Given the description of an element on the screen output the (x, y) to click on. 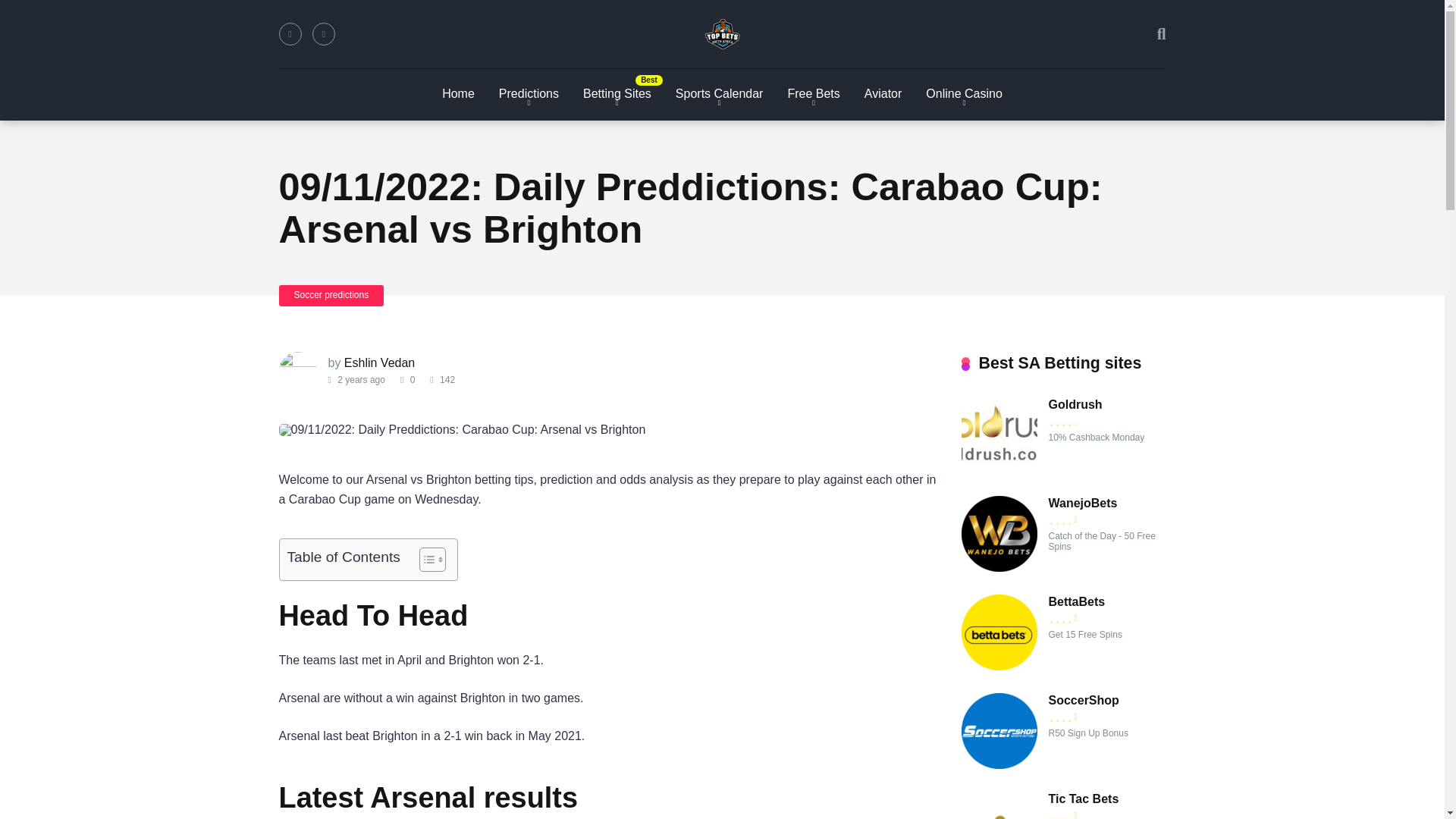
Home (457, 94)
Betting Sites (616, 94)
Posts by Eshlin Vedan (378, 362)
Predictions (528, 94)
Twitter (323, 33)
Sports Calendar (719, 94)
Facebook (290, 33)
